Given the description of an element on the screen output the (x, y) to click on. 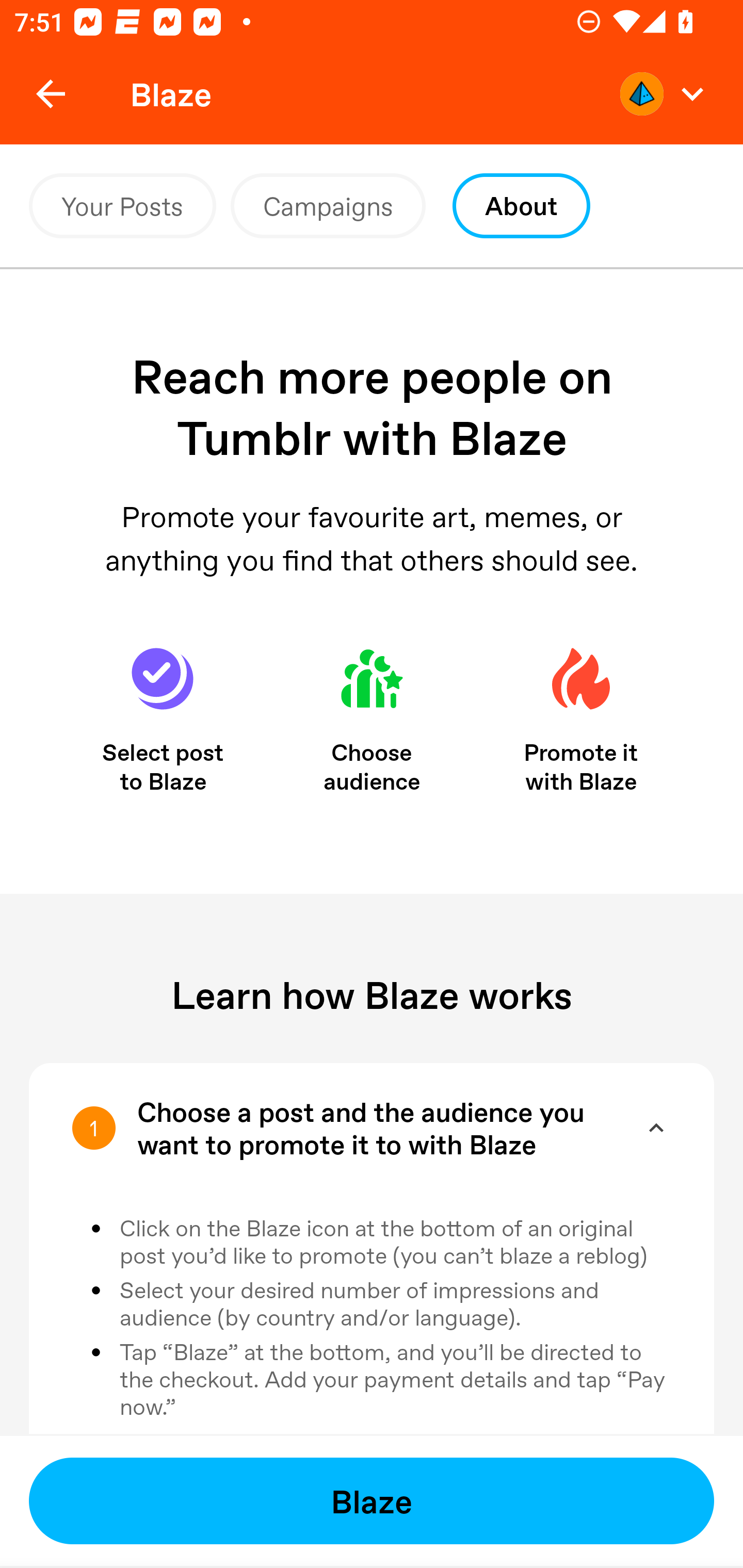
Back (50, 93)
Your Posts (122, 206)
Campaigns (328, 206)
Collapse (655, 1128)
Blaze (371, 1501)
